Given the description of an element on the screen output the (x, y) to click on. 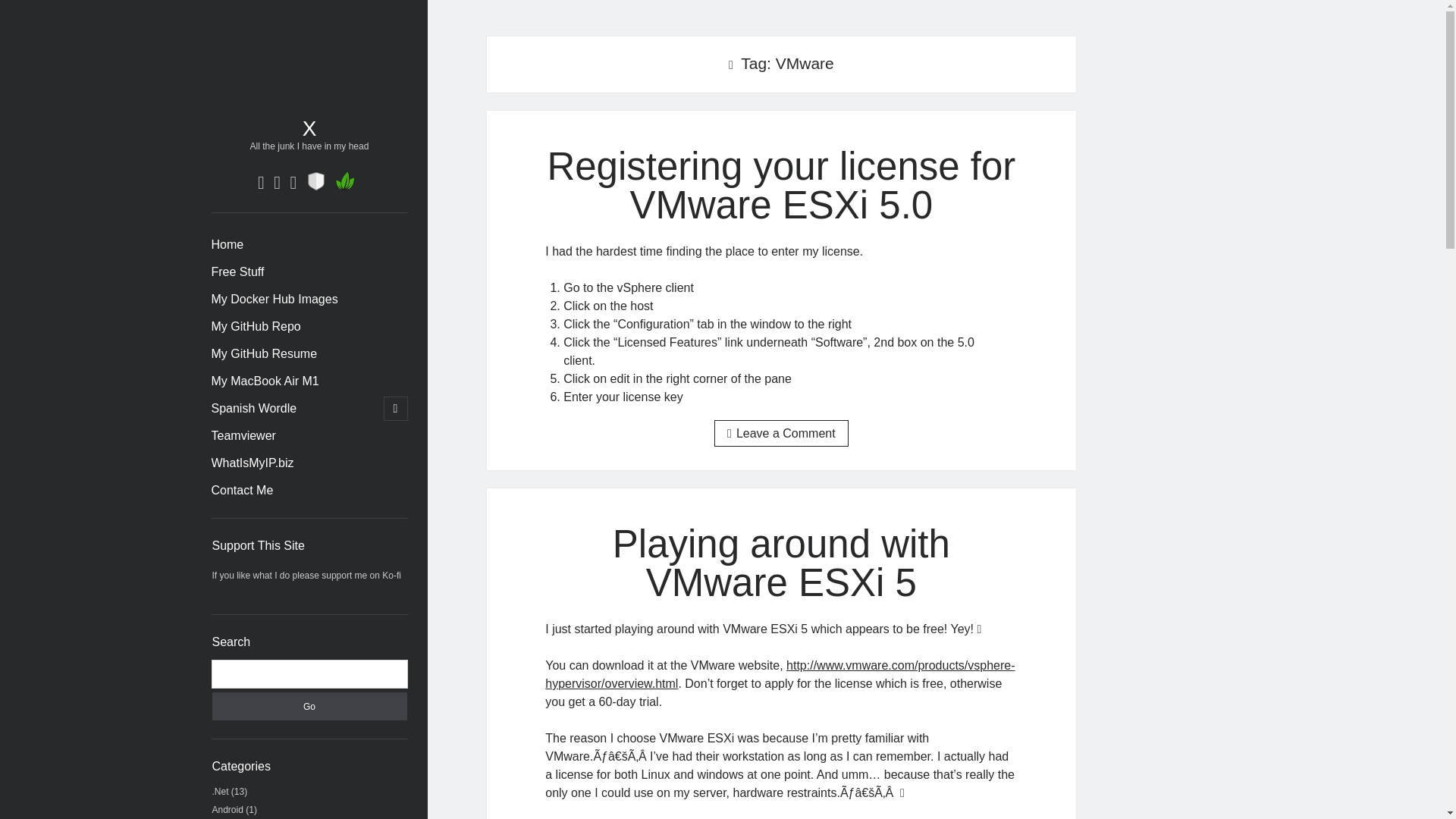
Spanish Wordle (254, 408)
Go (309, 706)
Android (227, 809)
Go (309, 706)
Home (227, 244)
github (293, 182)
open child menu (395, 408)
.Net (220, 791)
My GitHub Resume (264, 353)
My MacBook Air M1 (264, 381)
Free Stuff (237, 271)
rss (260, 182)
Contact Me (242, 490)
Go (309, 706)
comment icon (731, 433)
